Given the description of an element on the screen output the (x, y) to click on. 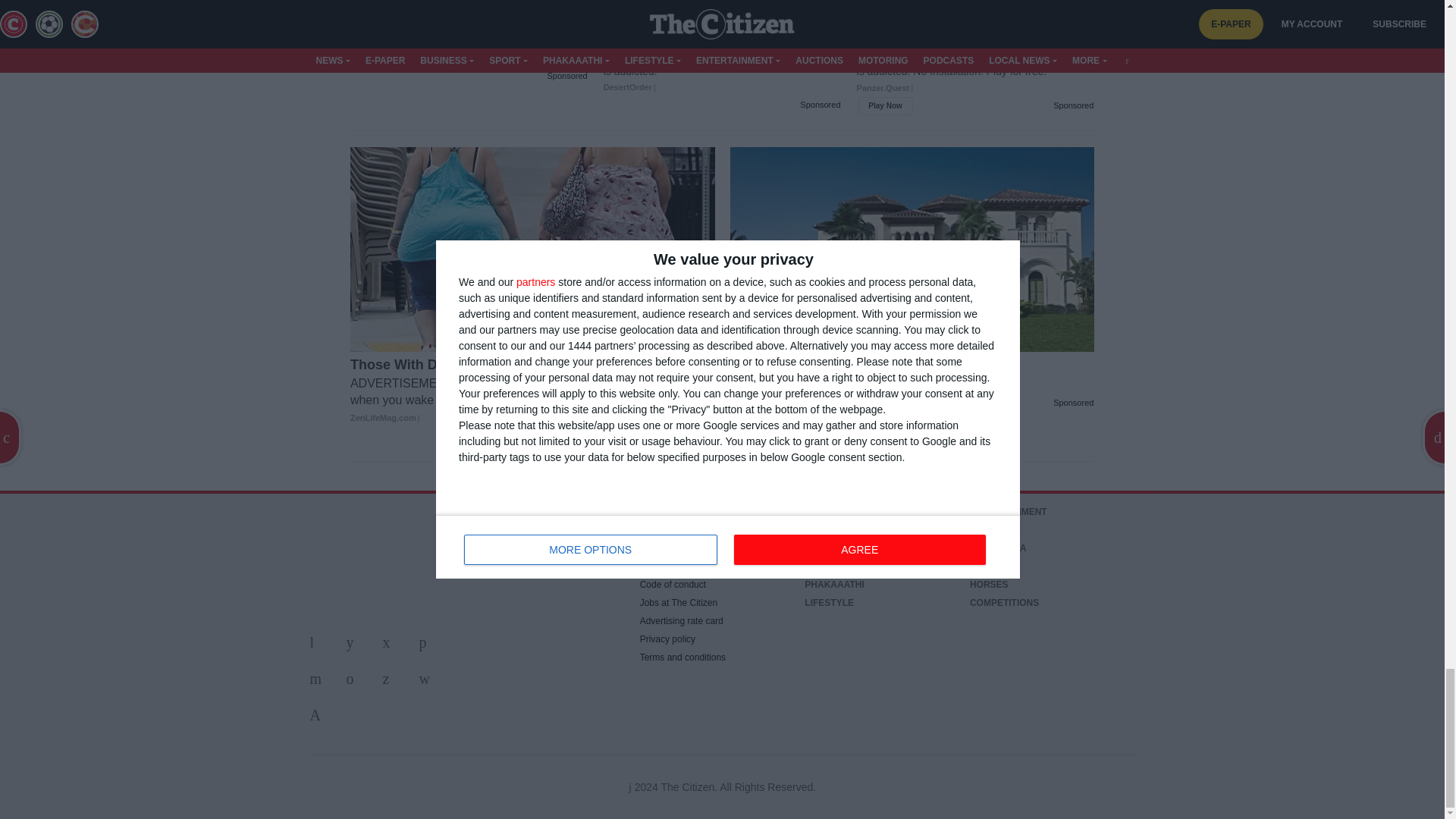
40 Anti Diabetes Foods You Need to Start Eating (469, 40)
